Given the description of an element on the screen output the (x, y) to click on. 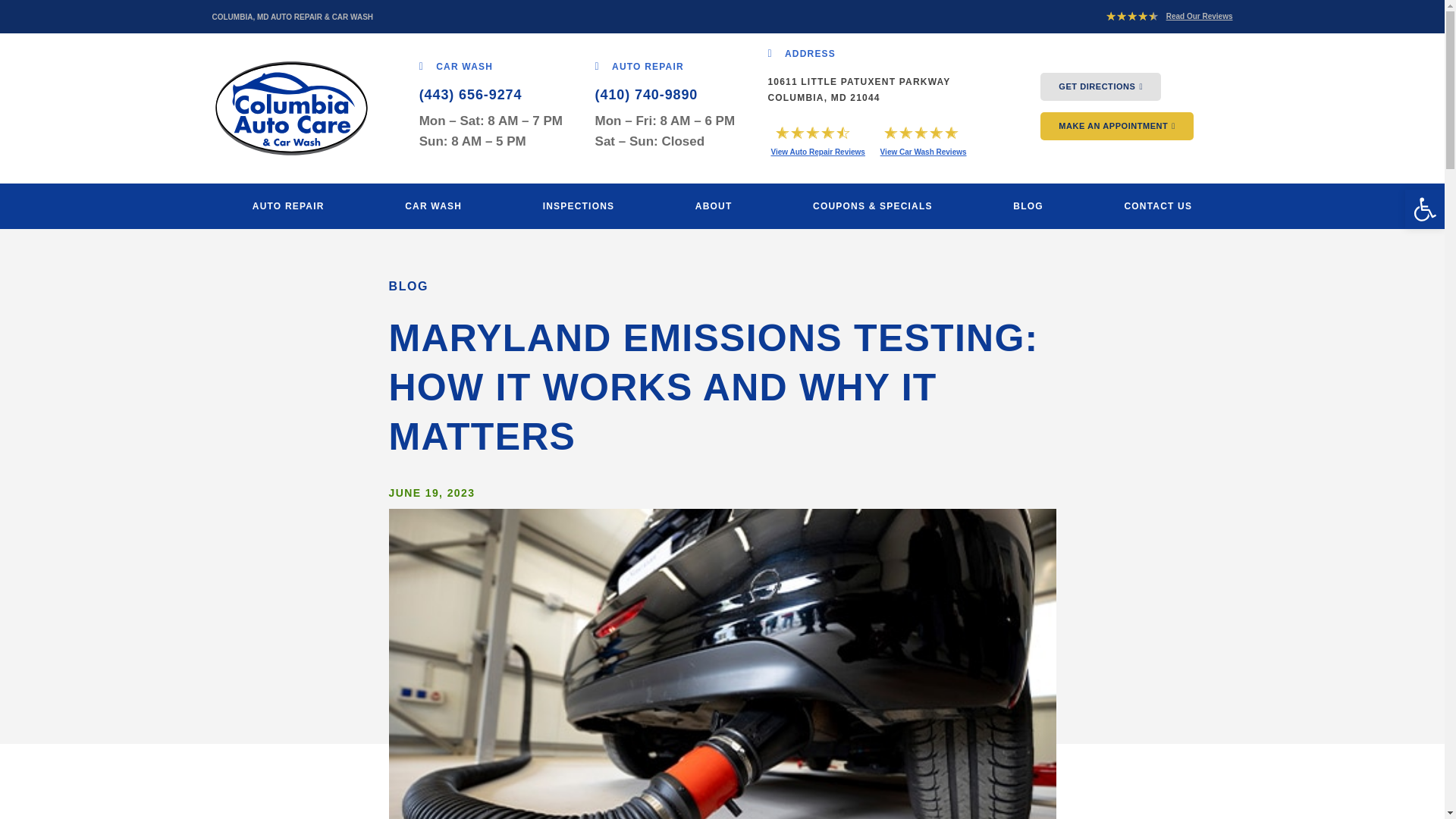
MAKE AN APPOINTMENT (1117, 126)
BLOG (1027, 205)
CONTACT US (1157, 205)
Accessibility Tools (1424, 209)
ADDRESS (801, 53)
View Car Wash Reviews (923, 152)
INSPECTIONS (577, 205)
View Auto Repair Reviews (817, 152)
AUTO REPAIR (288, 205)
Read Our Reviews (1199, 16)
CAR WASH (433, 205)
ABOUT (714, 205)
AUTO REPAIR (639, 66)
GET DIRECTIONS (1100, 86)
CAR WASH (456, 66)
